Given the description of an element on the screen output the (x, y) to click on. 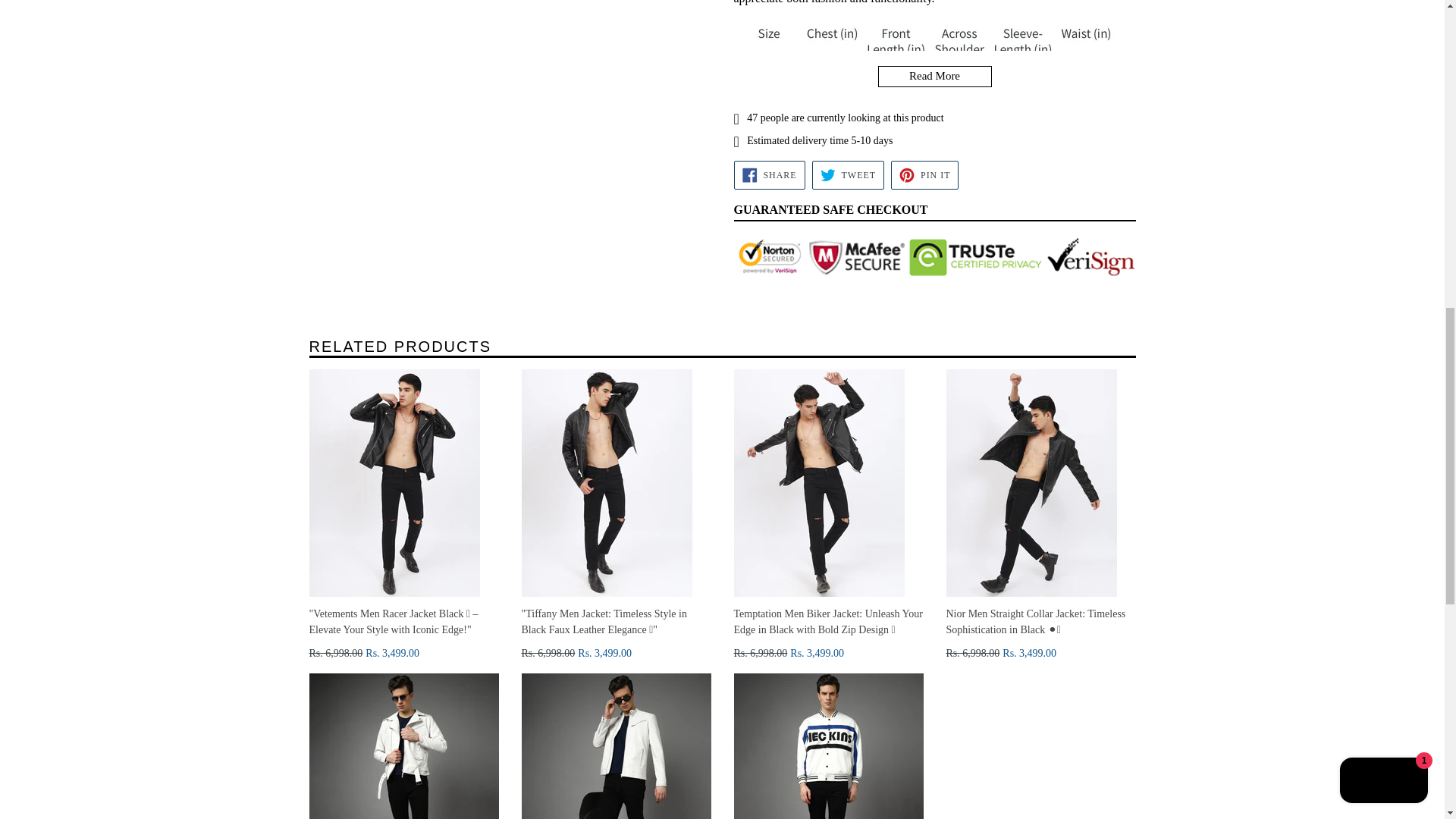
Share on Facebook (769, 174)
Read More (934, 76)
Tweet on Twitter (769, 174)
Pin on Pinterest (847, 174)
